Given the description of an element on the screen output the (x, y) to click on. 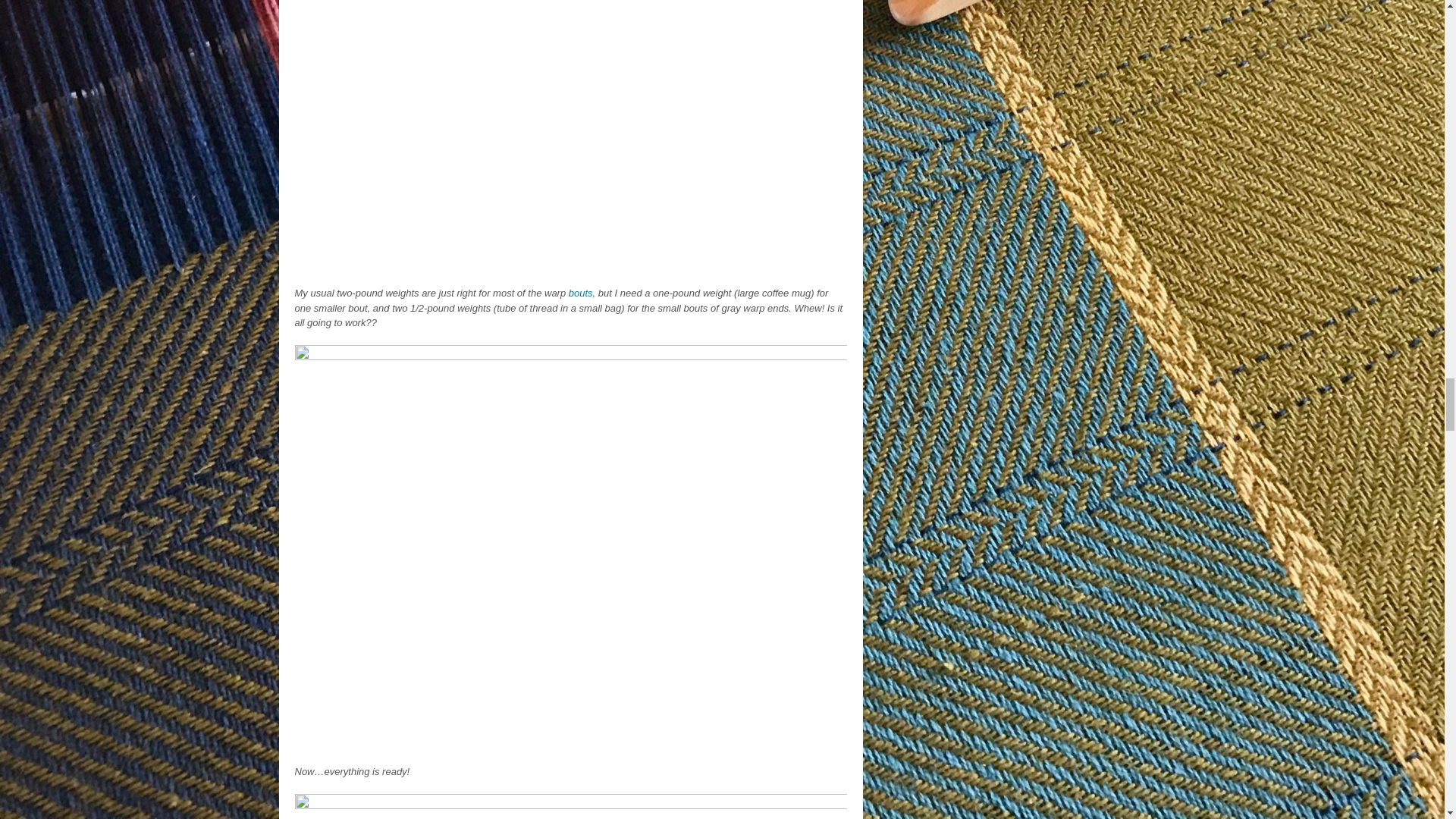
Weights (569, 272)
Beaming the Warp (569, 750)
